Given the description of an element on the screen output the (x, y) to click on. 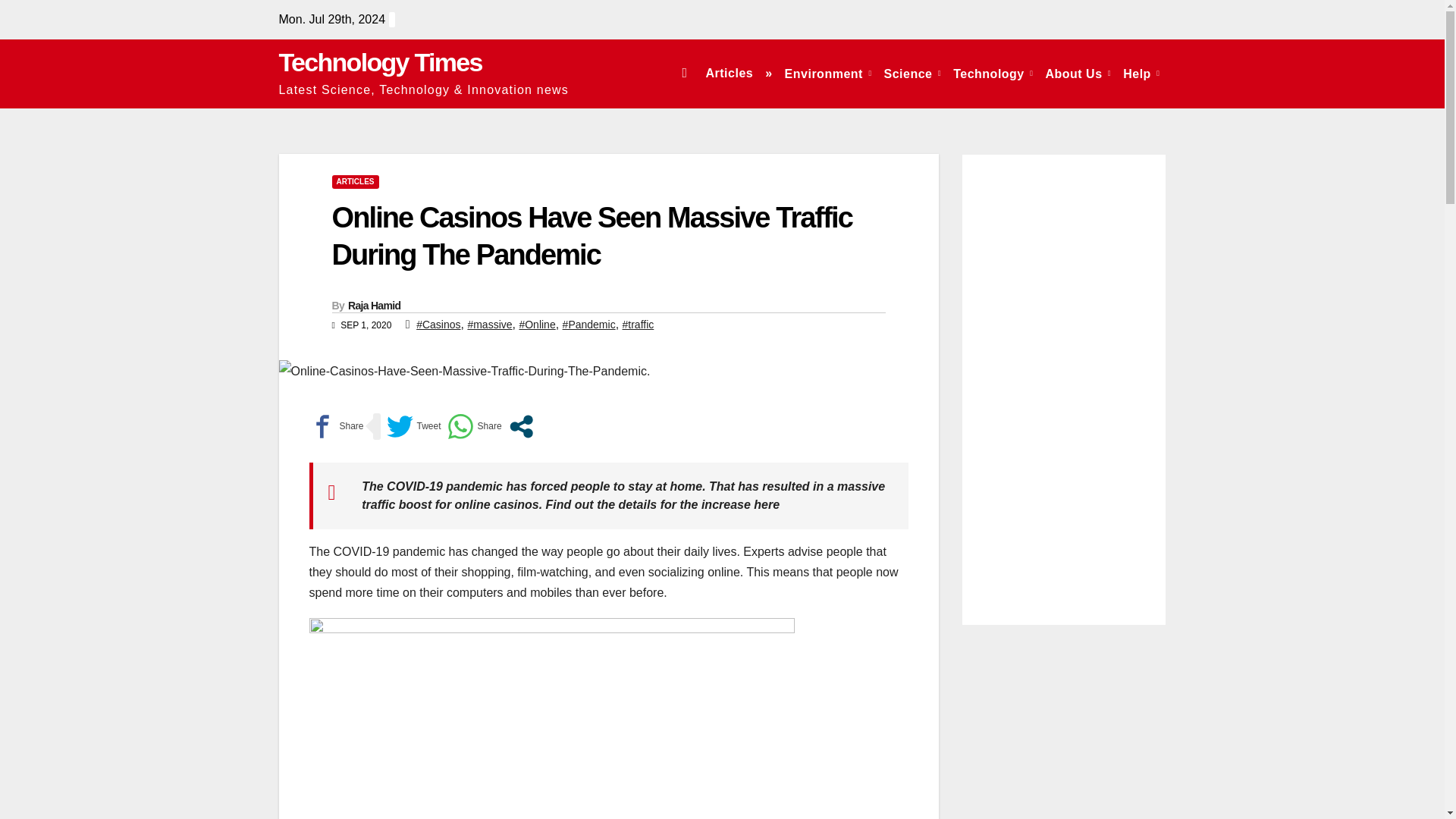
Technology Times (380, 61)
Technology (993, 73)
Environment (827, 73)
About Us (1077, 73)
Environment (827, 73)
Science (912, 73)
Science (912, 73)
Technology (993, 73)
